Given the description of an element on the screen output the (x, y) to click on. 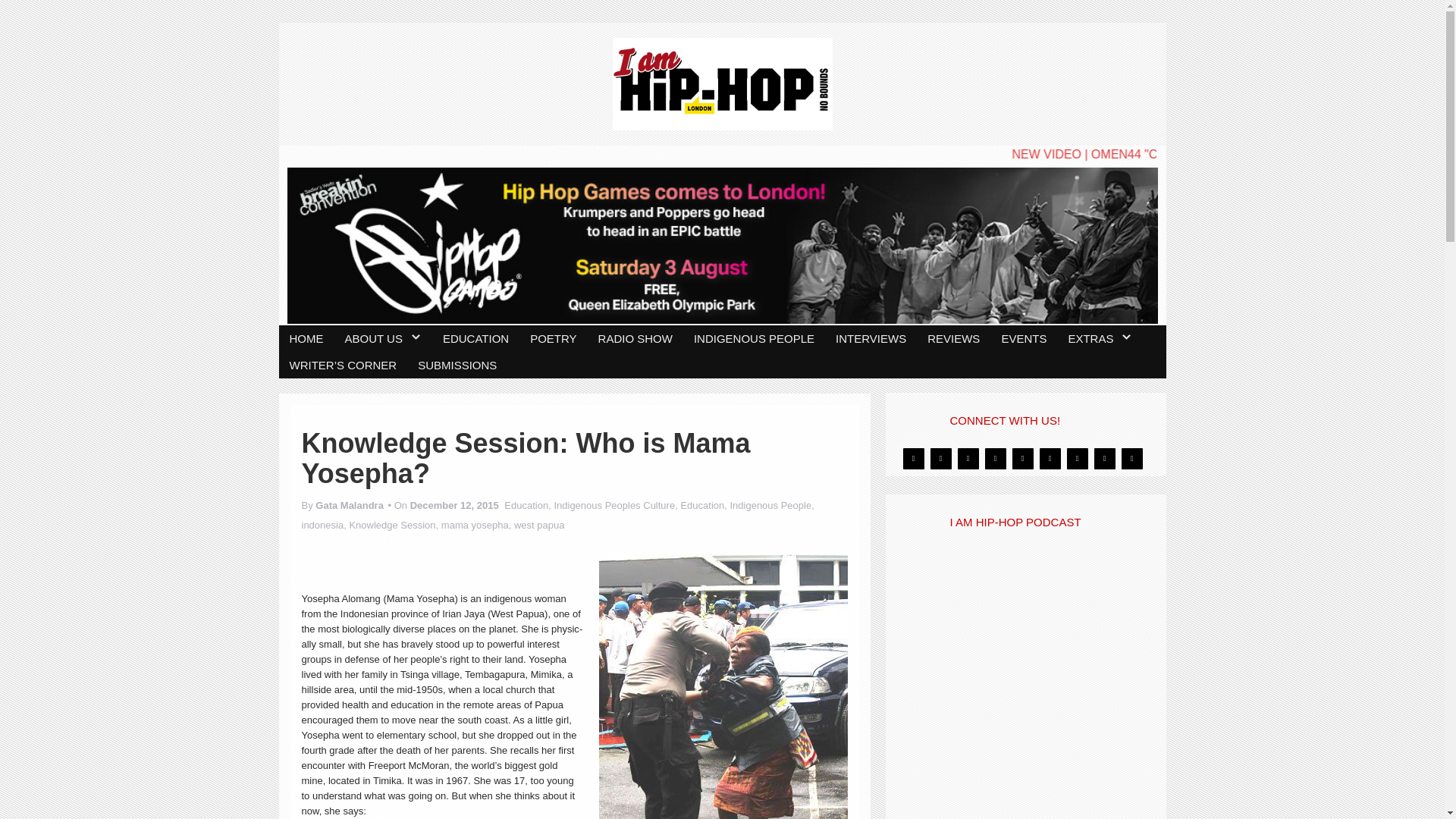
EDUCATION (475, 338)
SUBMISSIONS (456, 365)
RADIO SHOW (635, 338)
Pinterest (1021, 458)
EXTRAS (1099, 338)
REVIEWS (953, 338)
LinkedIn (1049, 458)
POETRY (552, 338)
Instagram (995, 458)
ABOUT US (381, 338)
